Given the description of an element on the screen output the (x, y) to click on. 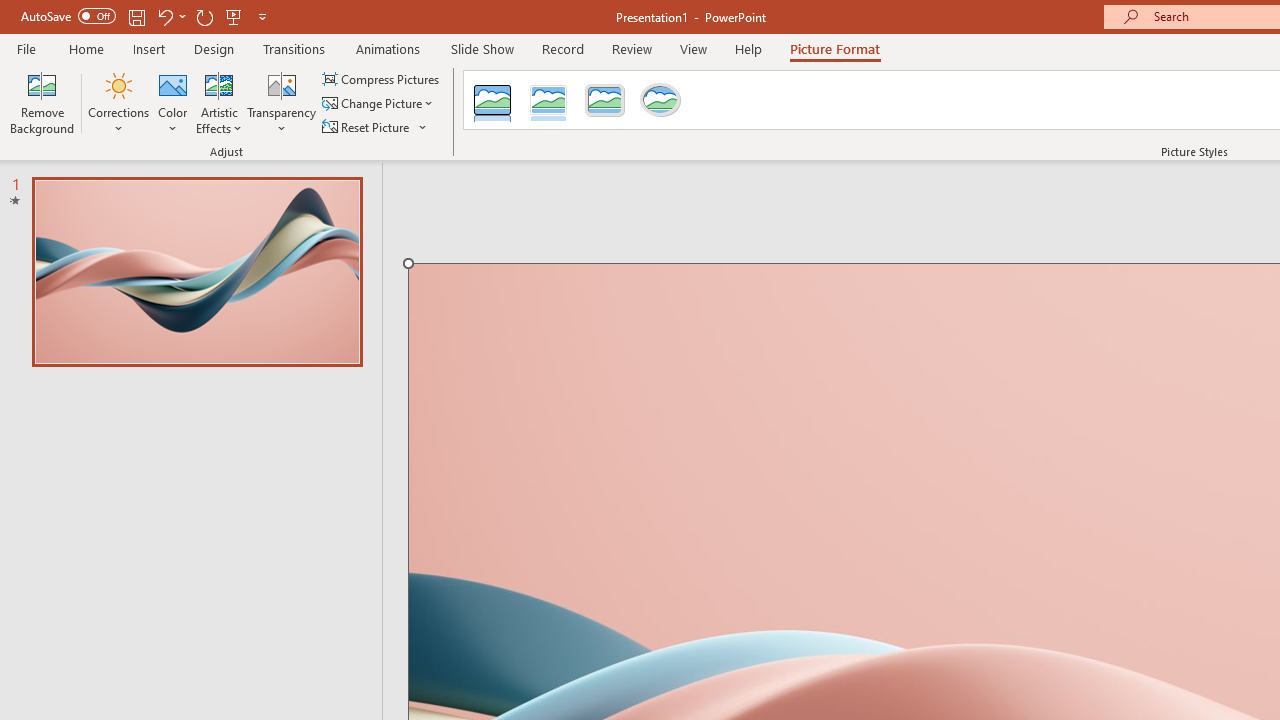
Change Picture (379, 103)
Reset Picture (367, 126)
Transparency (281, 102)
Remove Background (41, 102)
Color (173, 102)
